Given the description of an element on the screen output the (x, y) to click on. 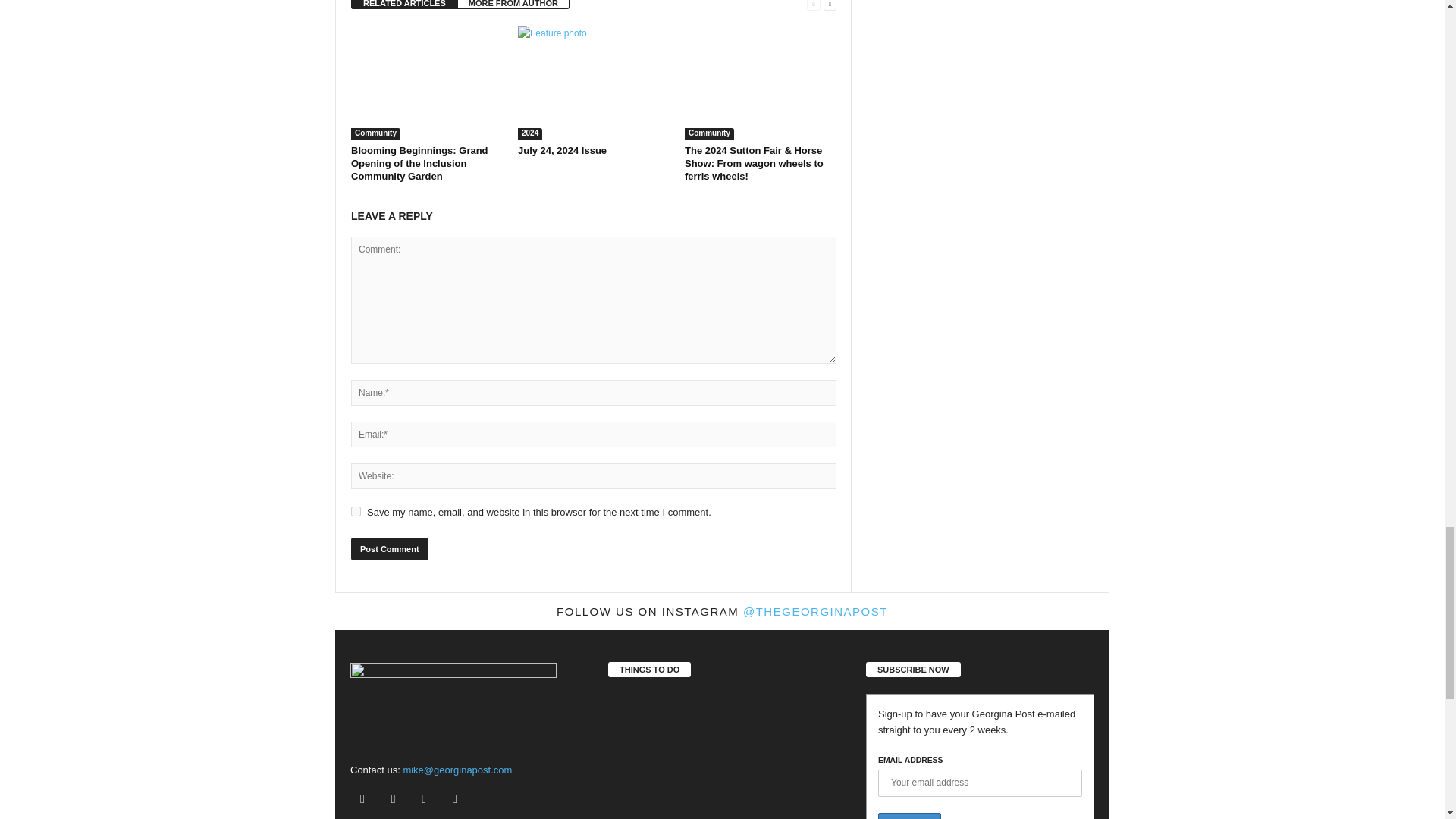
Post Comment (389, 548)
yes (355, 511)
Subscribe (908, 816)
